Given the description of an element on the screen output the (x, y) to click on. 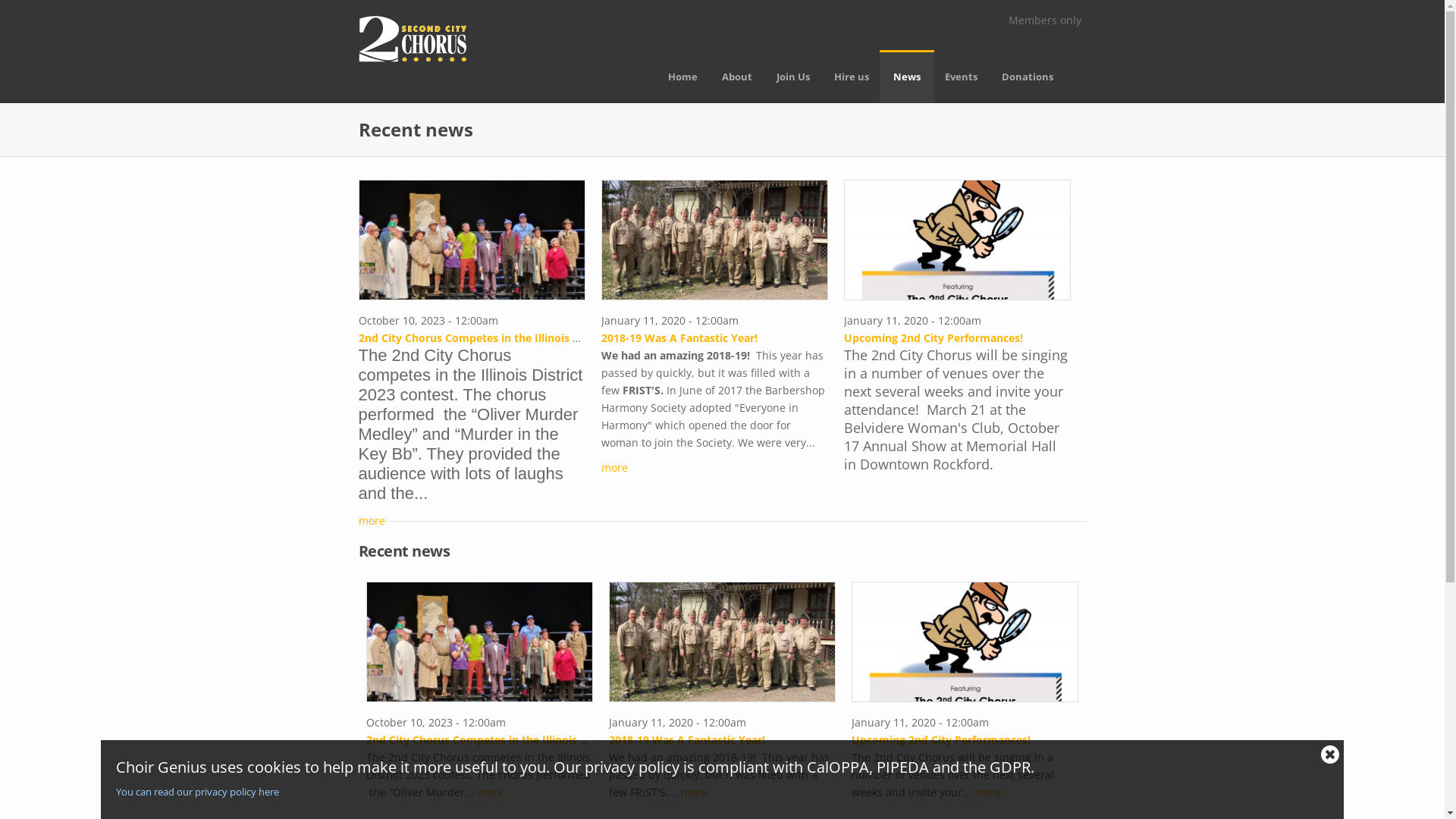
Upcoming 2nd City Performances! Element type: text (932, 337)
Events Element type: text (961, 76)
more Element type: text (693, 791)
Join Us Element type: text (792, 76)
more Element type: text (613, 467)
News Element type: text (906, 76)
2018-19 Was A Fantastic Year! Element type: text (678, 337)
more Element type: text (986, 791)
2018-19 Was A Fantastic Year! Element type: text (686, 739)
You can read our privacy policy here Element type: text (714, 791)
Close cookie notice Element type: text (1329, 753)
Home Element type: text (681, 76)
Hire us Element type: text (851, 76)
About Element type: text (736, 76)
more Element type: text (370, 520)
Upcoming 2nd City Performances! Element type: text (939, 739)
Members only Element type: text (1044, 19)
more Element type: text (489, 791)
Skip to main content Element type: text (52, 0)
Donations Element type: text (1026, 76)
